Given the description of an element on the screen output the (x, y) to click on. 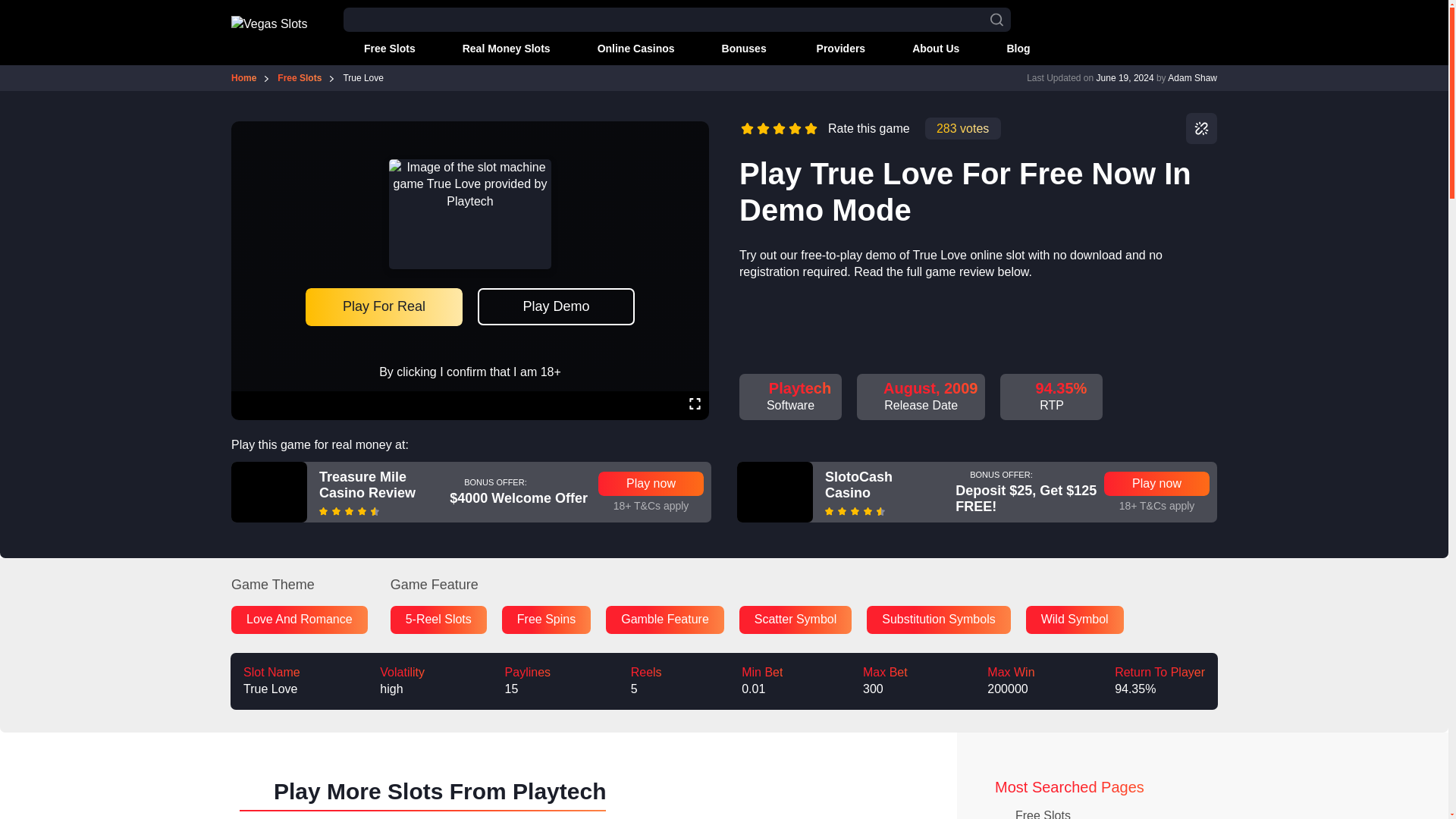
Providers (831, 48)
Real Money Slots (496, 48)
Online Casinos (625, 48)
search (996, 19)
Search (6, 6)
Free Slots (378, 48)
Bonuses  (735, 48)
